Given the description of an element on the screen output the (x, y) to click on. 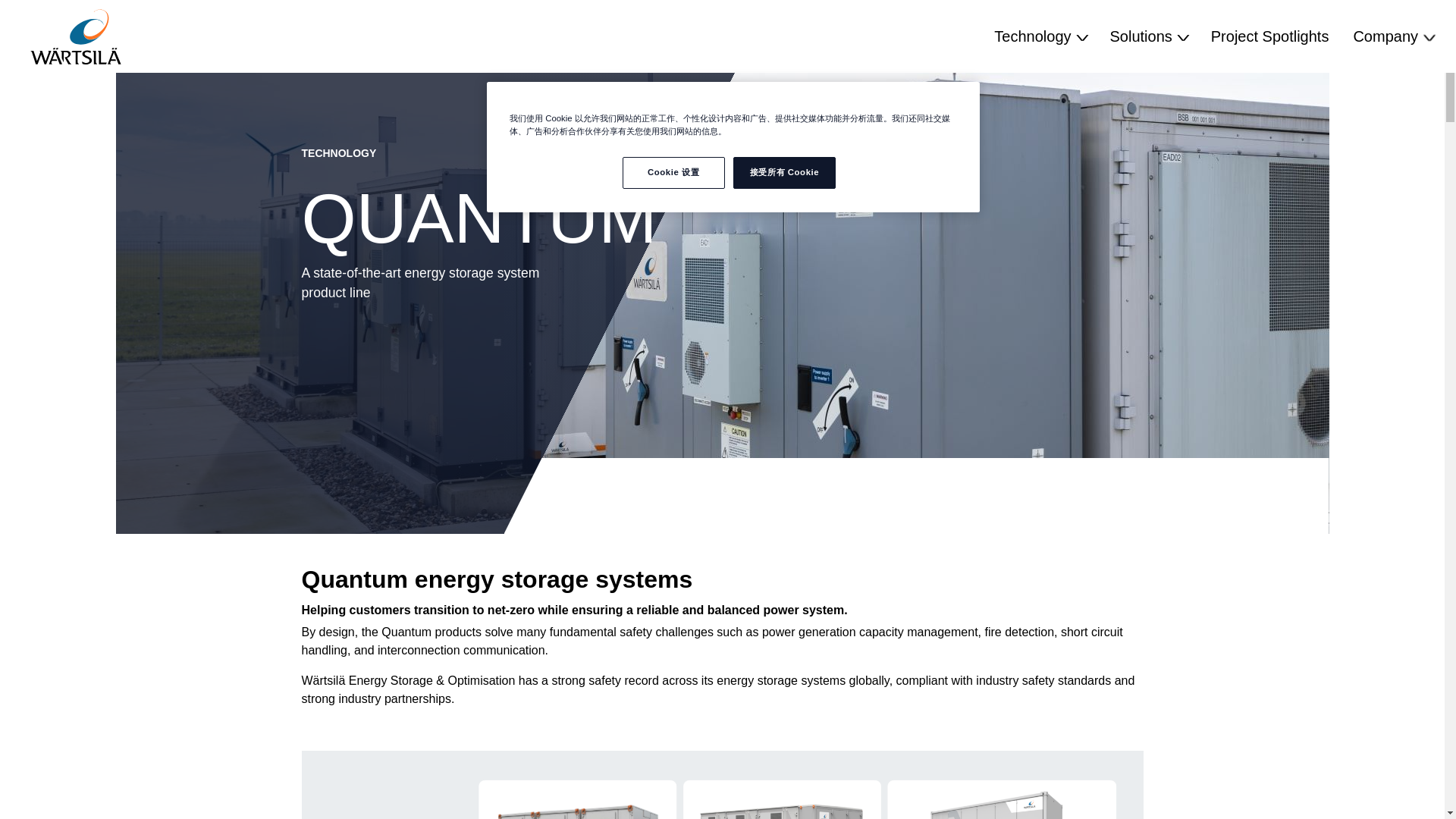
Solutions (1147, 36)
Project Spotlights (1270, 36)
Company (1392, 36)
Technology (1039, 36)
